Given the description of an element on the screen output the (x, y) to click on. 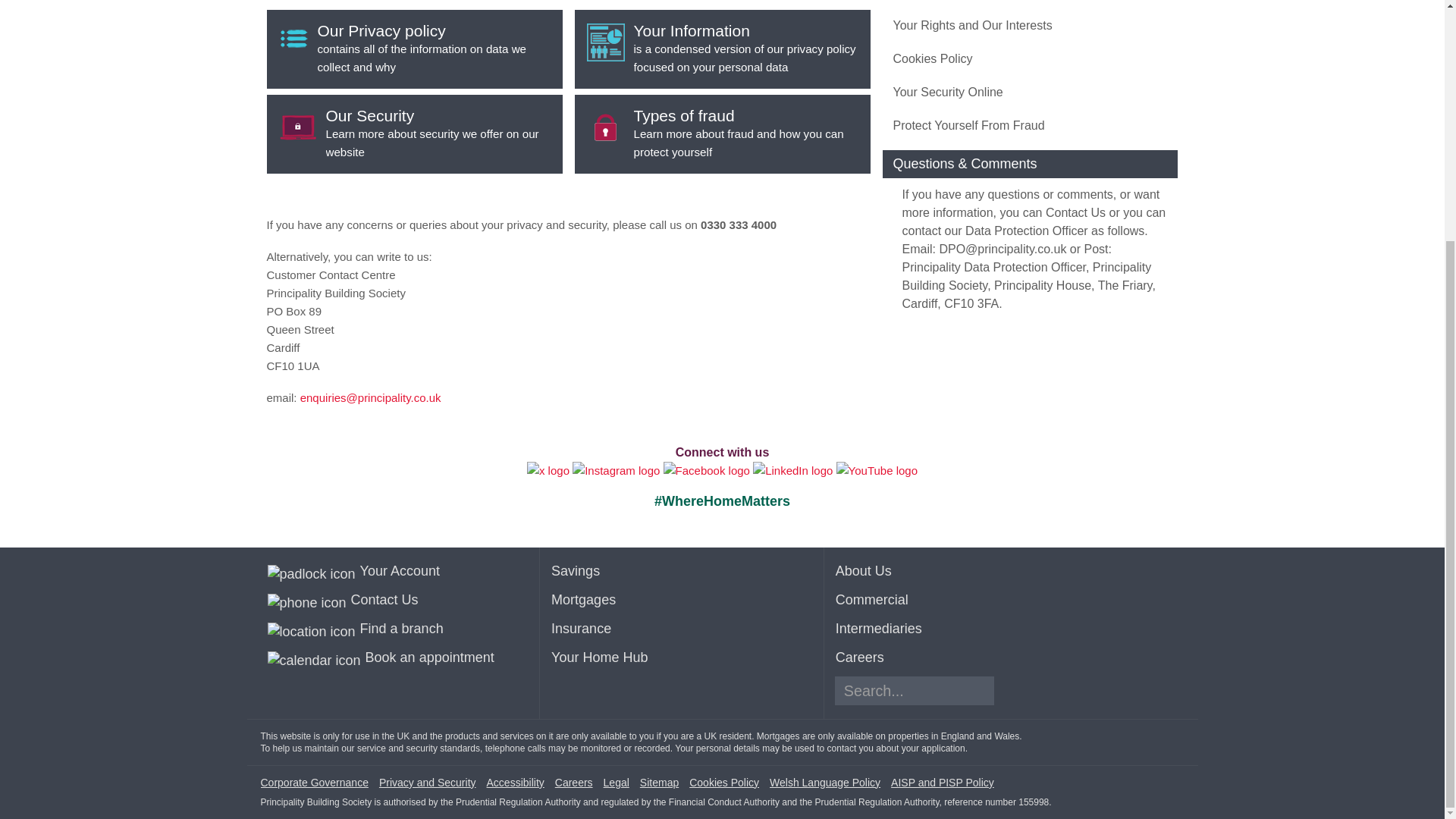
This links to an external website (708, 470)
This links to an external website (792, 470)
This links to an external website (876, 470)
This links to an external website (548, 470)
This links to an external website (617, 470)
